Given the description of an element on the screen output the (x, y) to click on. 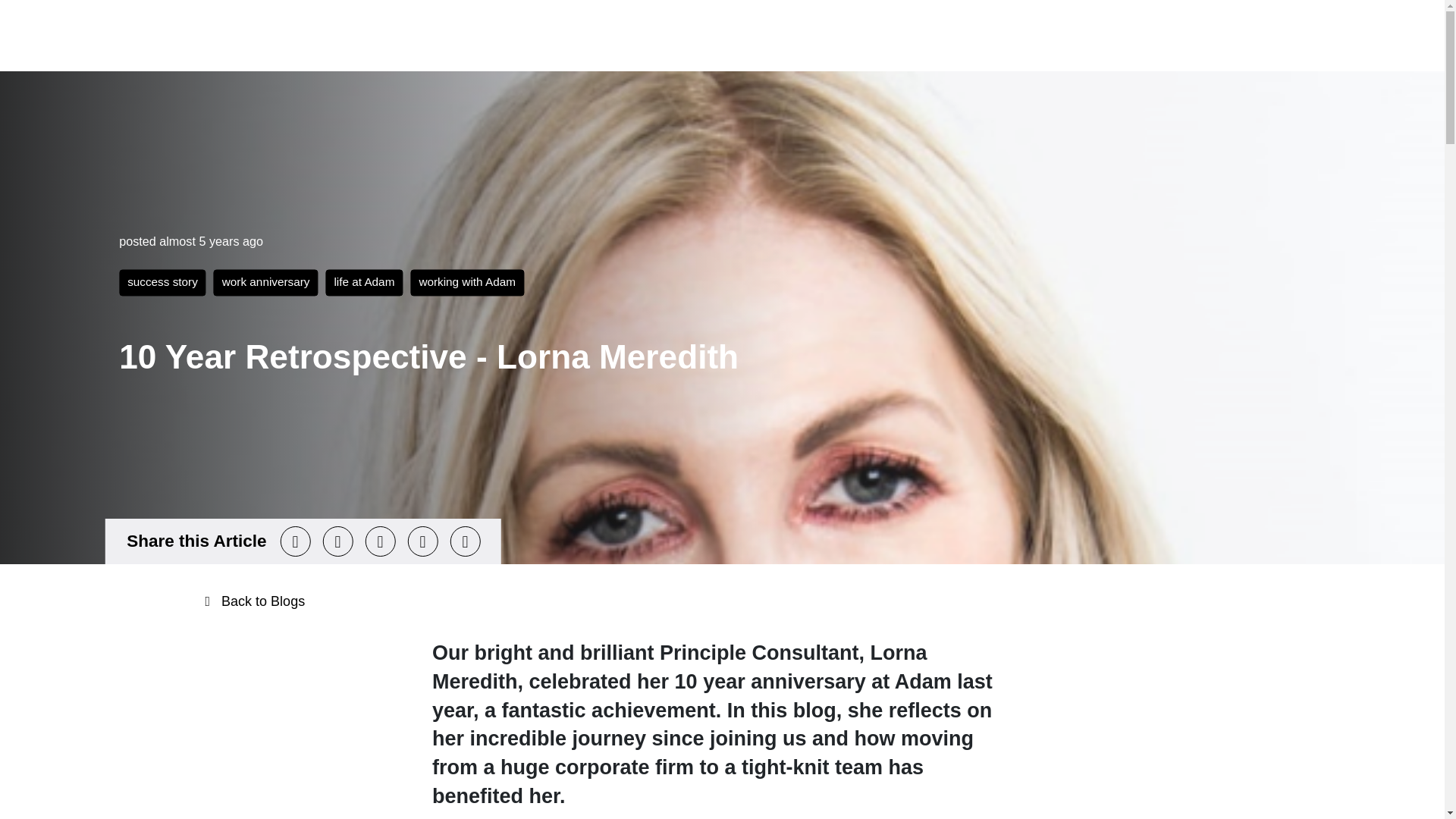
Tweet this (296, 541)
send in Whatsapp (464, 541)
share on LinkedIn (380, 541)
Email this (422, 541)
share on Facebook (338, 541)
